Given the description of an element on the screen output the (x, y) to click on. 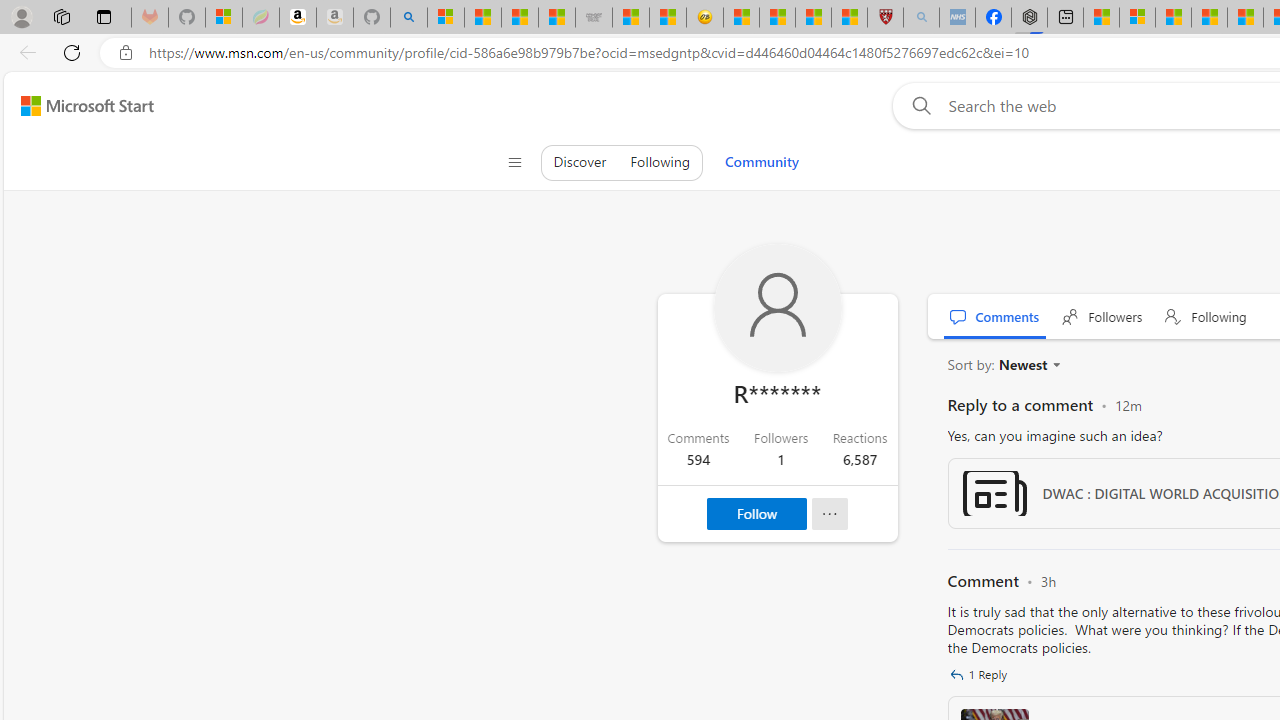
 Followers (1102, 316)
Community (761, 162)
